Given the description of an element on the screen output the (x, y) to click on. 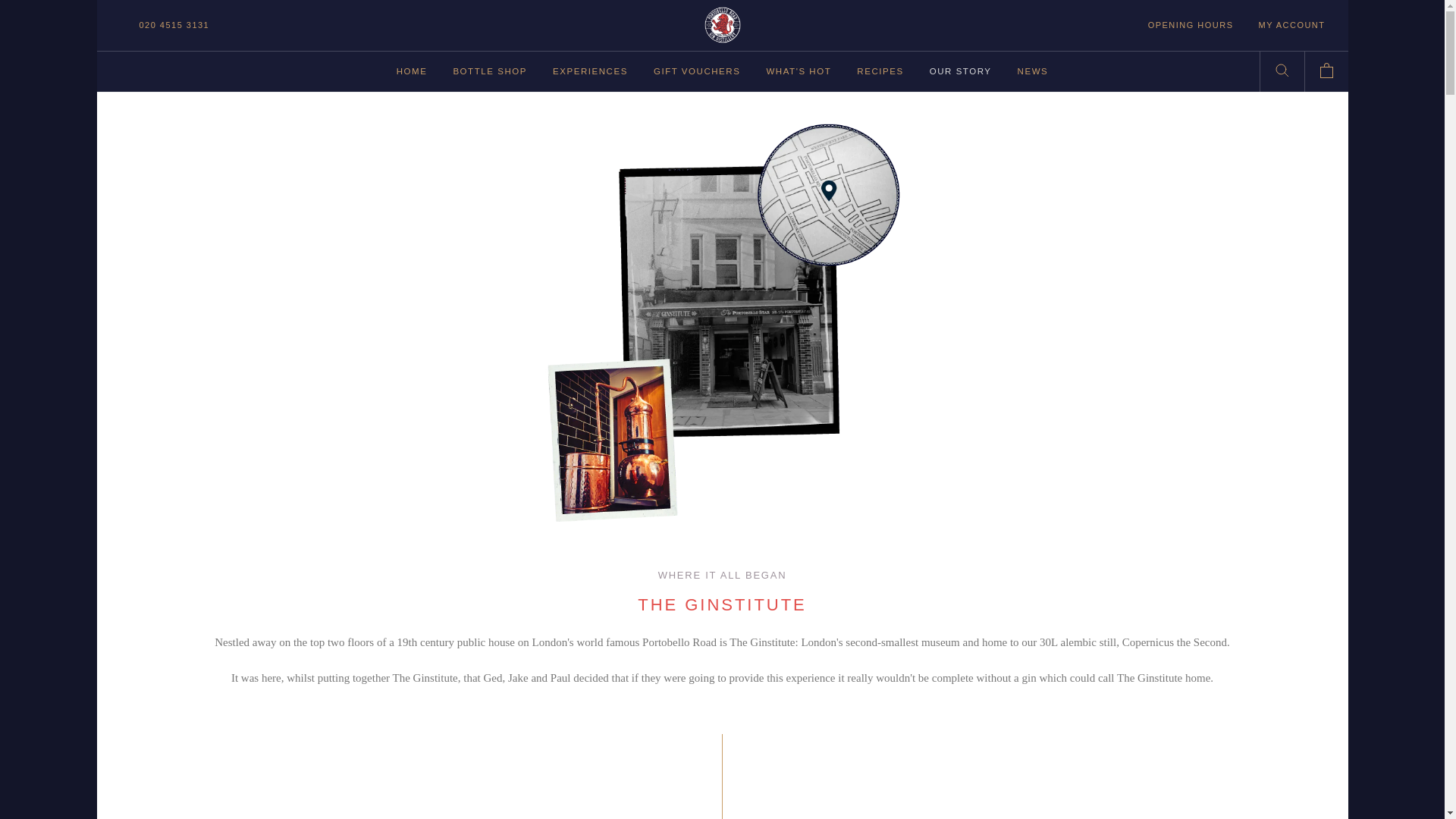
EXPERIENCES (590, 71)
020 4515 3131 (412, 71)
